Given the description of an element on the screen output the (x, y) to click on. 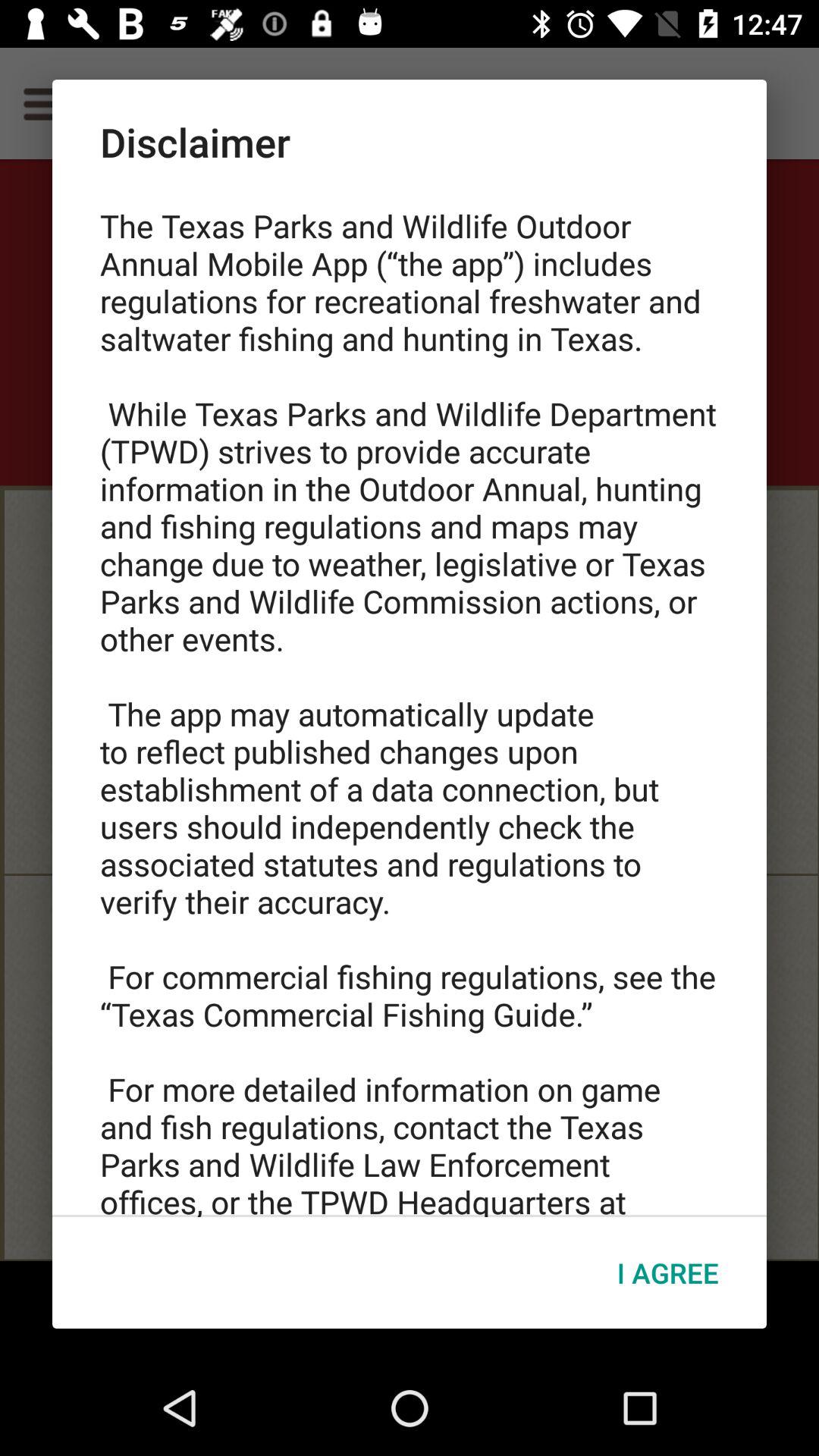
choose i agree at the bottom right corner (667, 1272)
